Given the description of an element on the screen output the (x, y) to click on. 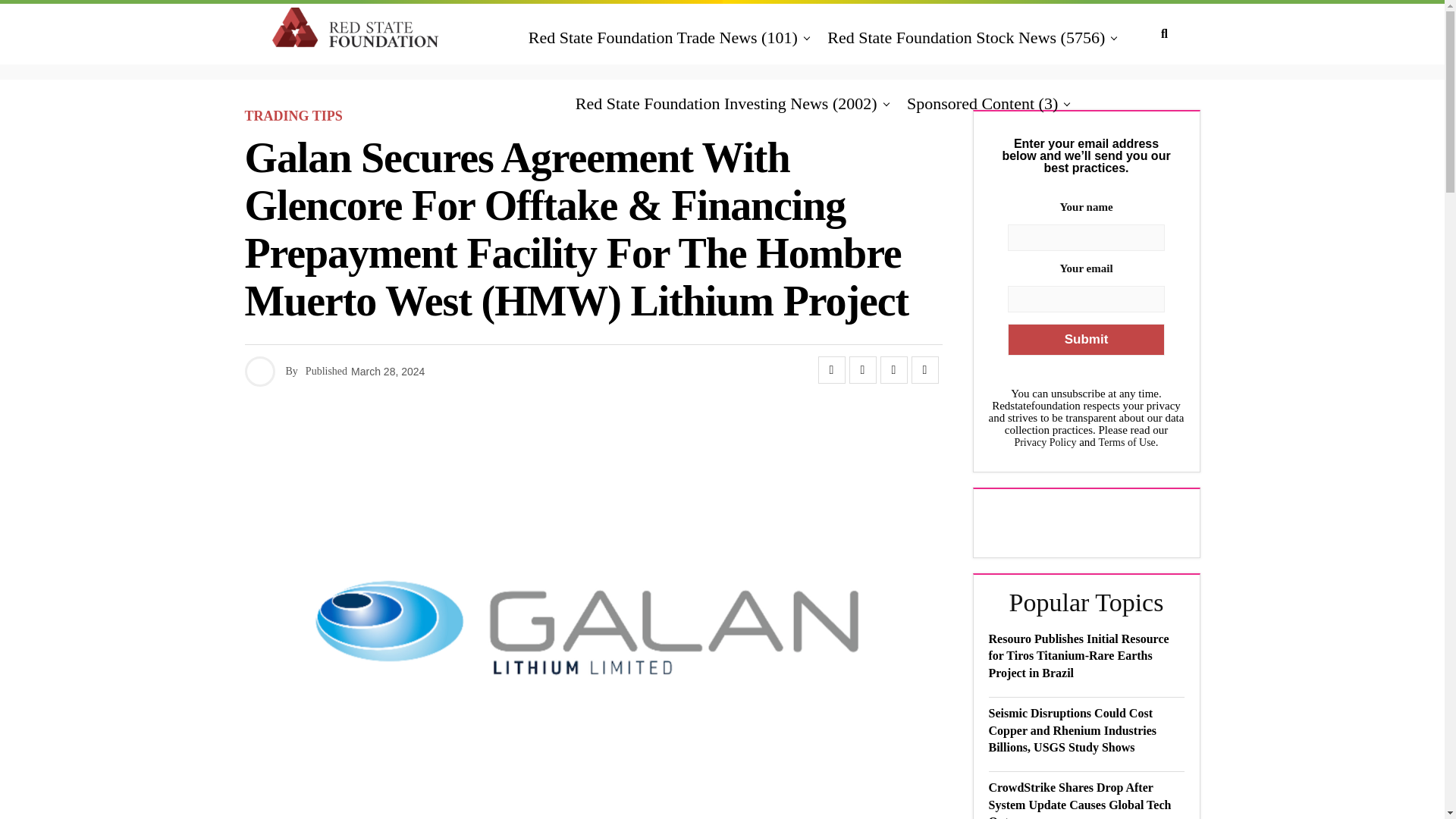
Submit (1085, 339)
Privacy Policy (1044, 441)
Submit (1085, 339)
Tweet This Post (862, 370)
TRADING TIPS (293, 115)
Terms of Use (1127, 441)
Share on Facebook (830, 370)
